Given the description of an element on the screen output the (x, y) to click on. 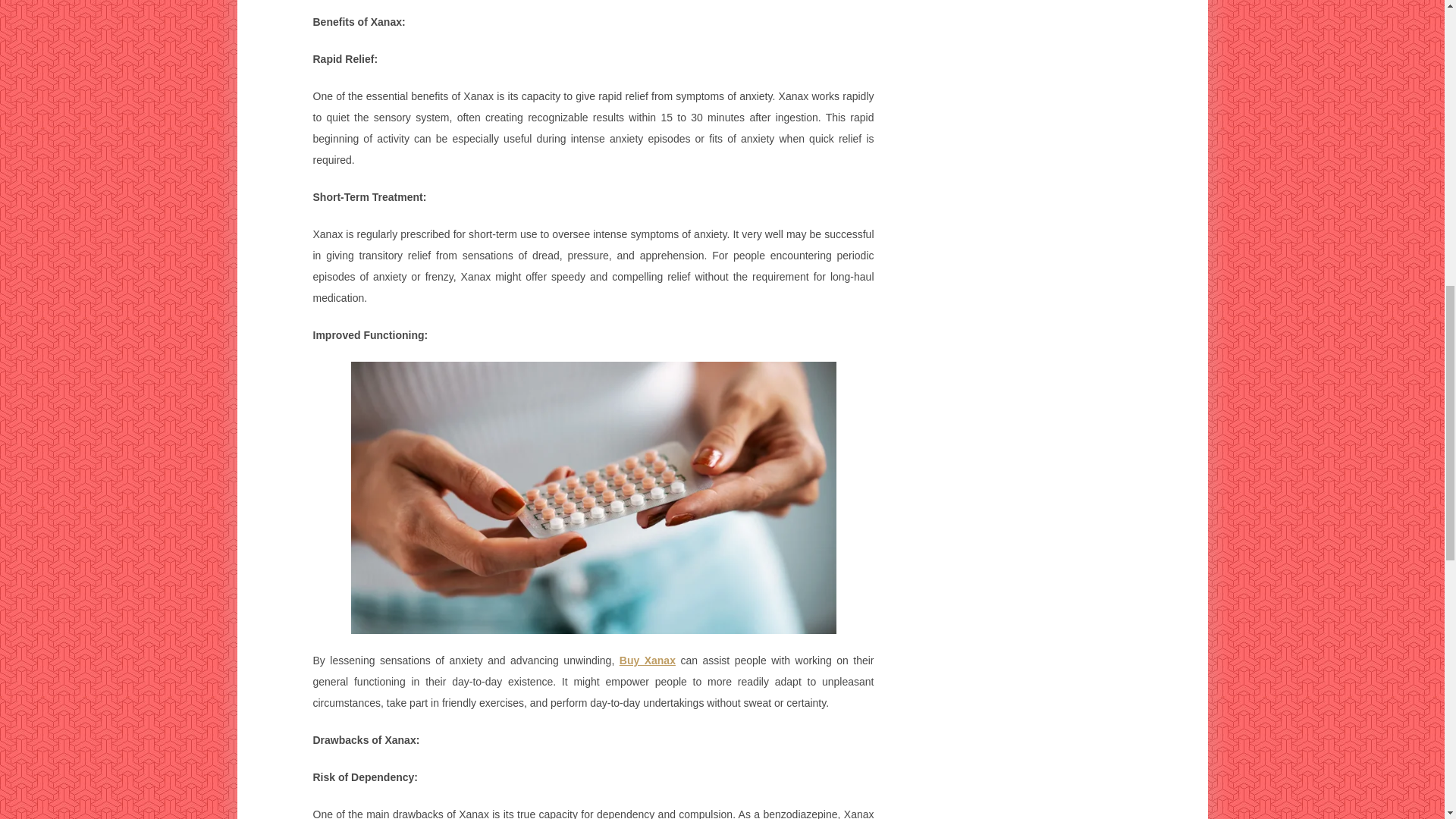
Buy Xanax (647, 660)
